Given the description of an element on the screen output the (x, y) to click on. 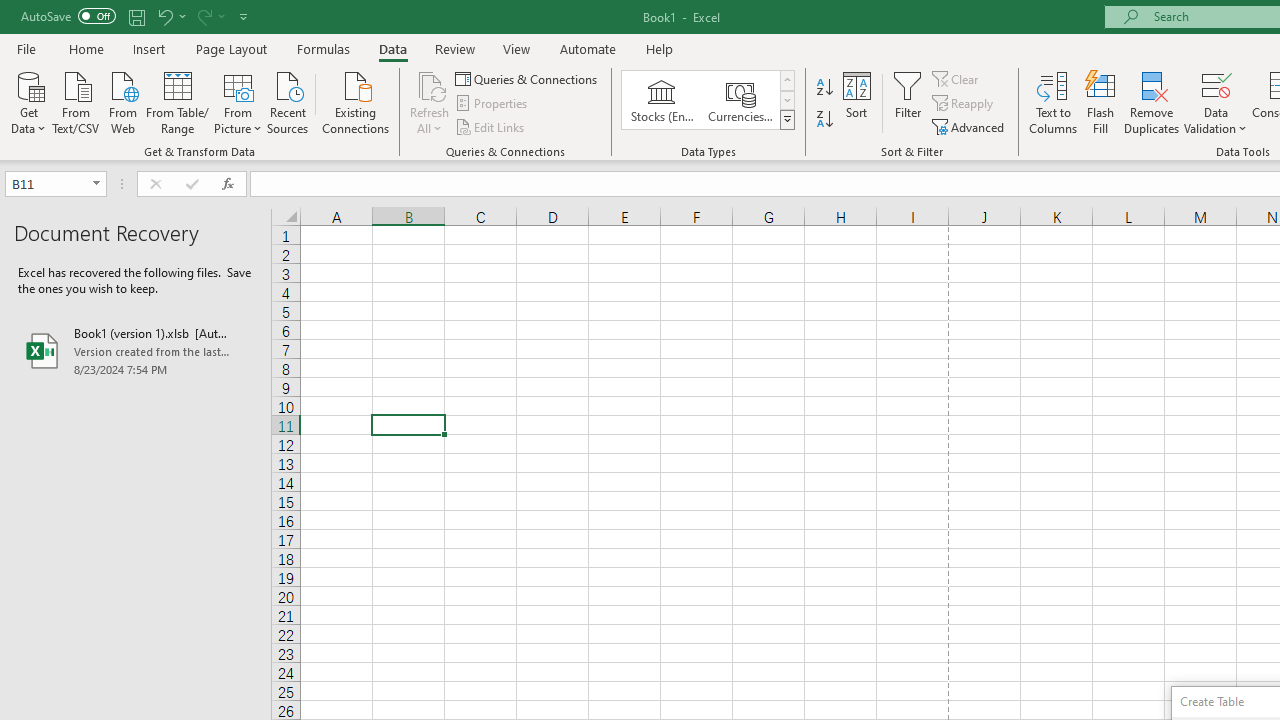
Class: NetUIImage (787, 119)
AutoSave (68, 16)
Recent Sources (287, 101)
Book1 (version 1).xlsb  [AutoRecovered] (136, 350)
From Web (122, 101)
Data (392, 48)
Filter (908, 102)
Help (660, 48)
File Tab (26, 48)
Insert (149, 48)
Sort... (856, 102)
Sort Z to A (824, 119)
AutomationID: ConvertToLinkedEntity (708, 99)
Home (86, 48)
From Picture (238, 101)
